Given the description of an element on the screen output the (x, y) to click on. 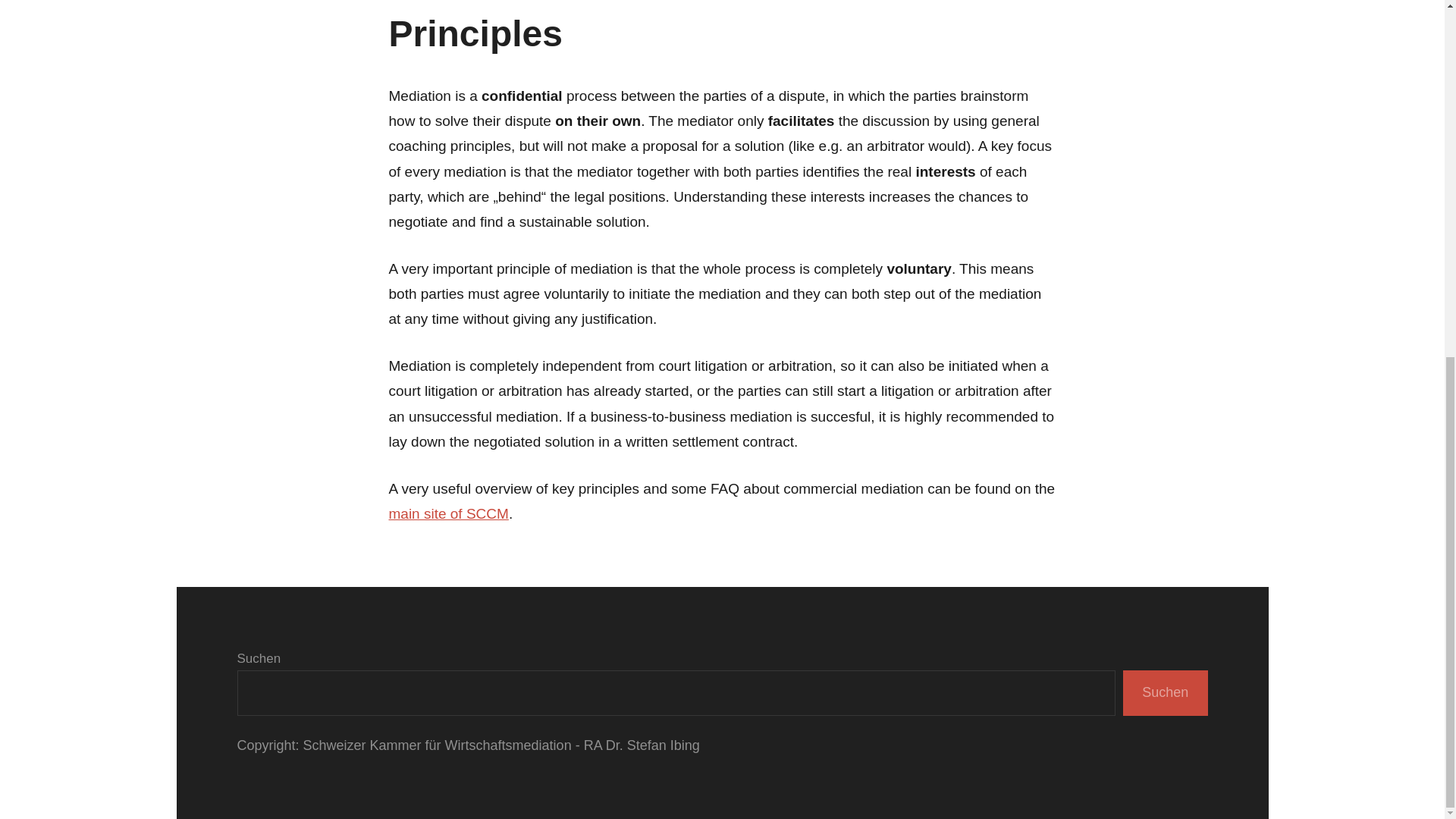
main site of SCCM (448, 513)
Suchen (1164, 692)
